Given the description of an element on the screen output the (x, y) to click on. 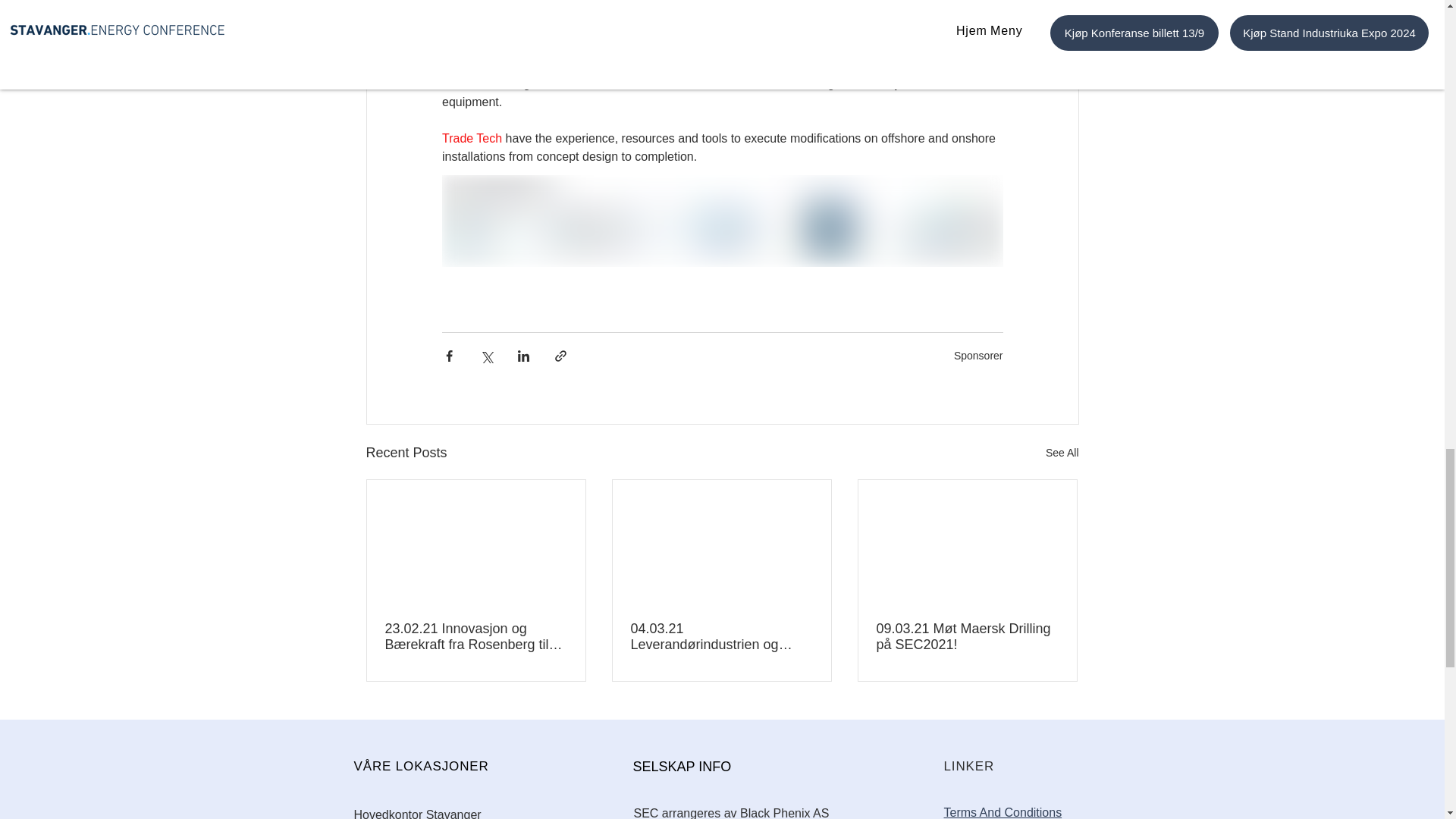
See All (1061, 453)
Terms And Conditions (1002, 812)
Sponsorer (978, 355)
